Given the description of an element on the screen output the (x, y) to click on. 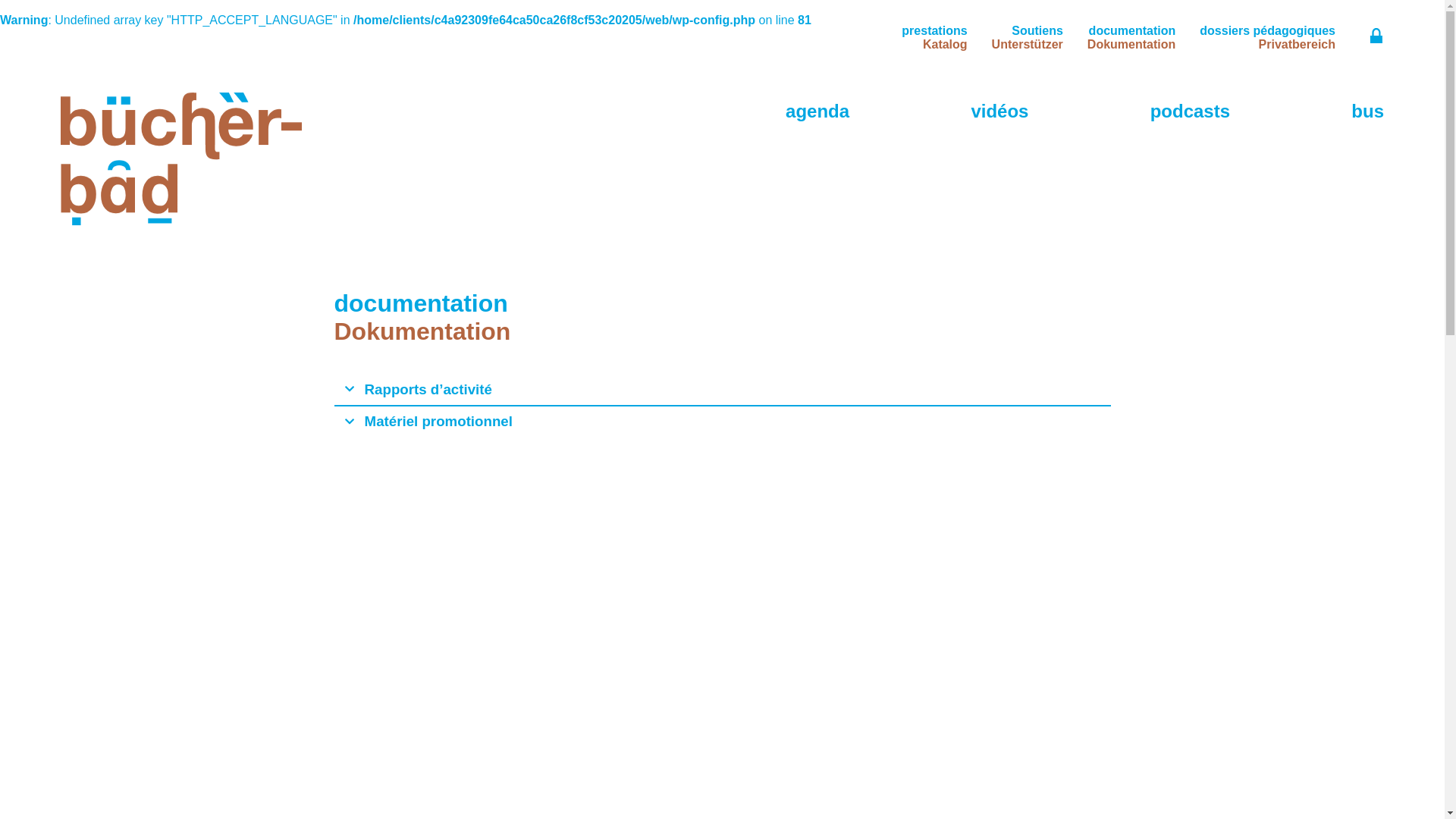
prestations
Katalog Element type: text (933, 38)
agenda Element type: text (817, 110)
bus Element type: text (1367, 110)
podcasts Element type: text (1190, 110)
documentation
Dokumentation Element type: text (1131, 38)
